Given the description of an element on the screen output the (x, y) to click on. 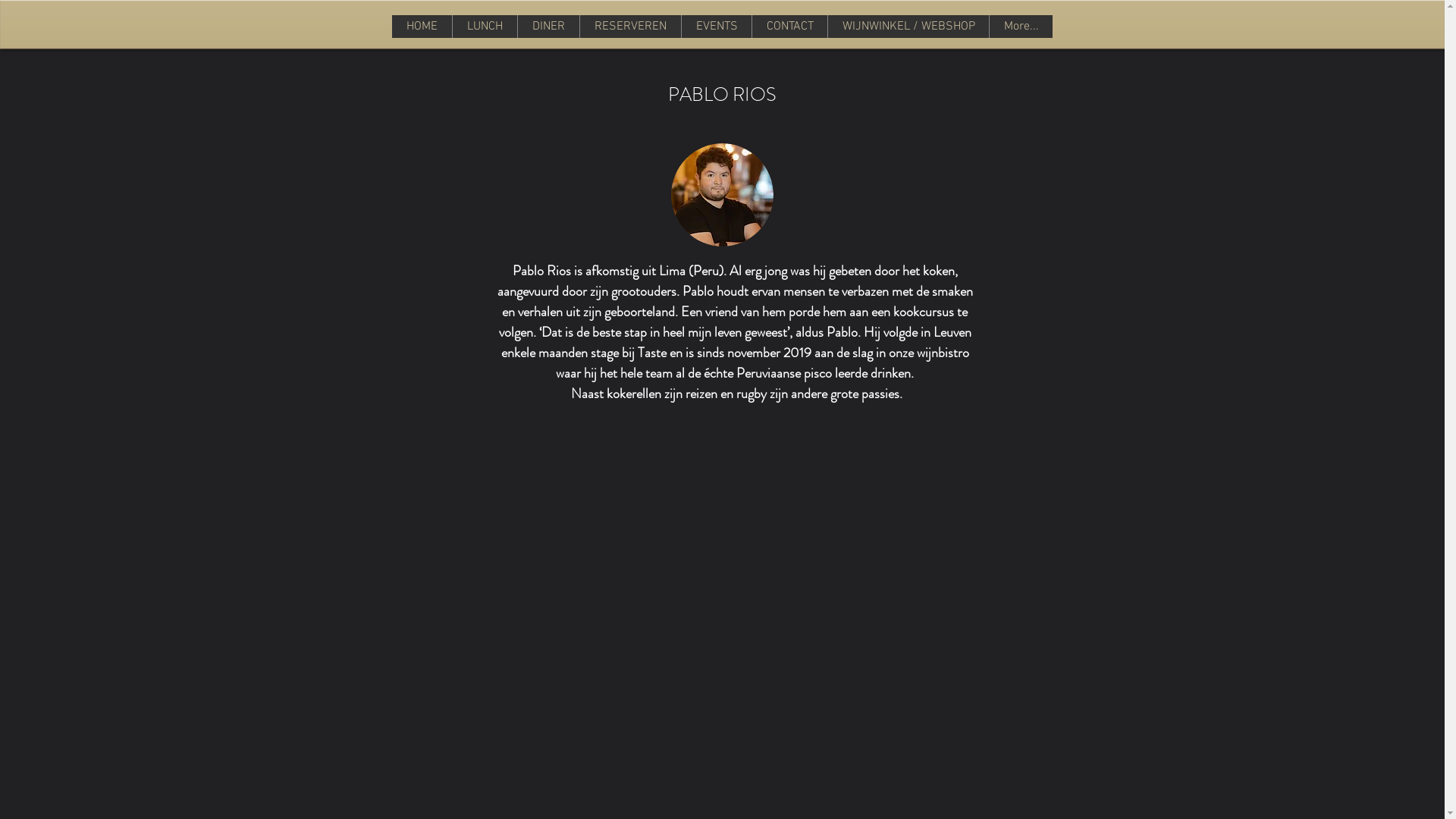
LUNCH Element type: text (484, 26)
DINER Element type: text (548, 26)
Pablo.Jpg Element type: hover (721, 194)
WIJNWINKEL / WEBSHOP Element type: text (907, 26)
RESERVEREN Element type: text (629, 26)
CONTACT Element type: text (789, 26)
EVENTS Element type: text (715, 26)
HOME Element type: text (421, 26)
